Given the description of an element on the screen output the (x, y) to click on. 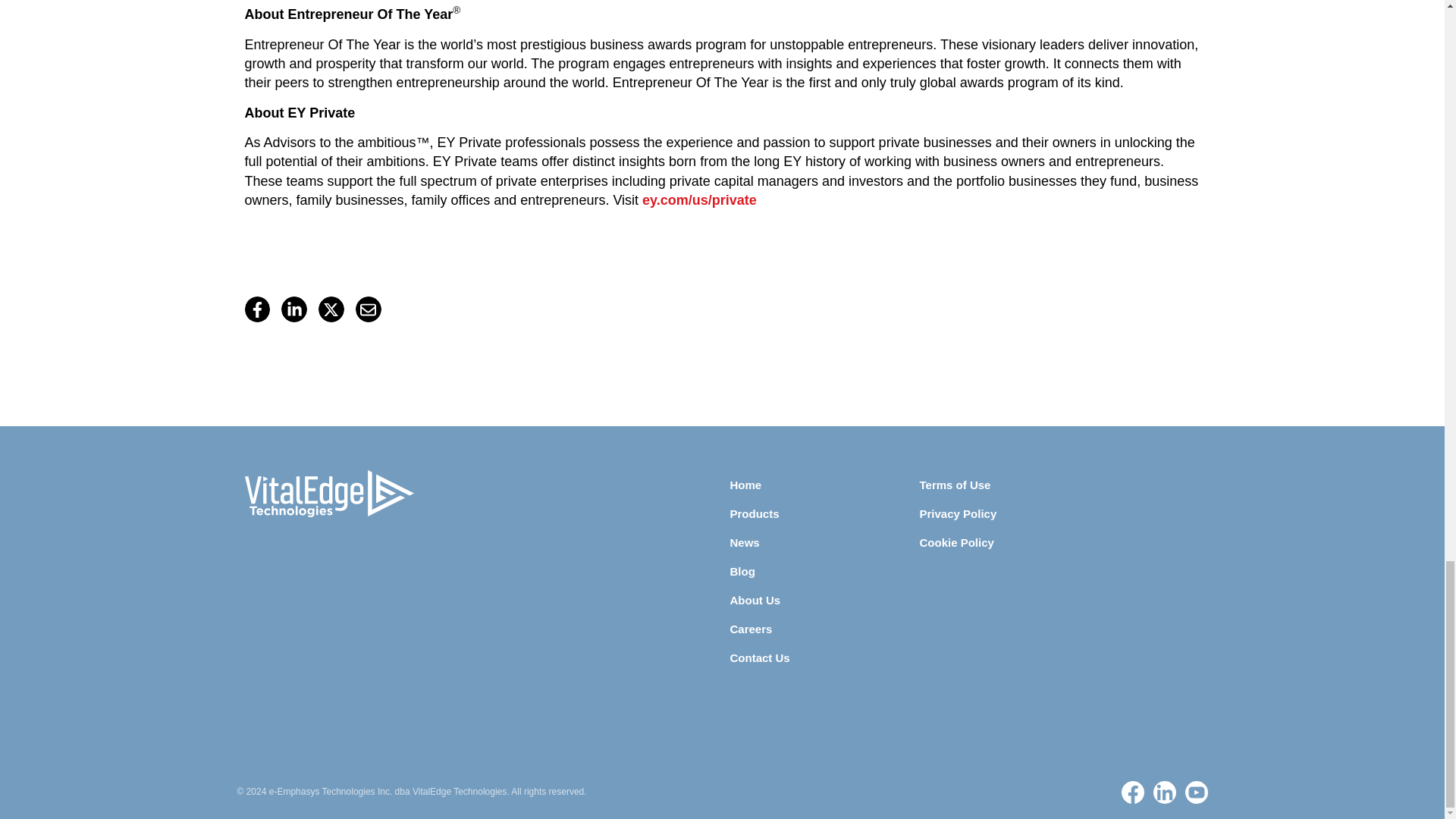
Products (823, 513)
News (823, 542)
Home (823, 485)
